Given the description of an element on the screen output the (x, y) to click on. 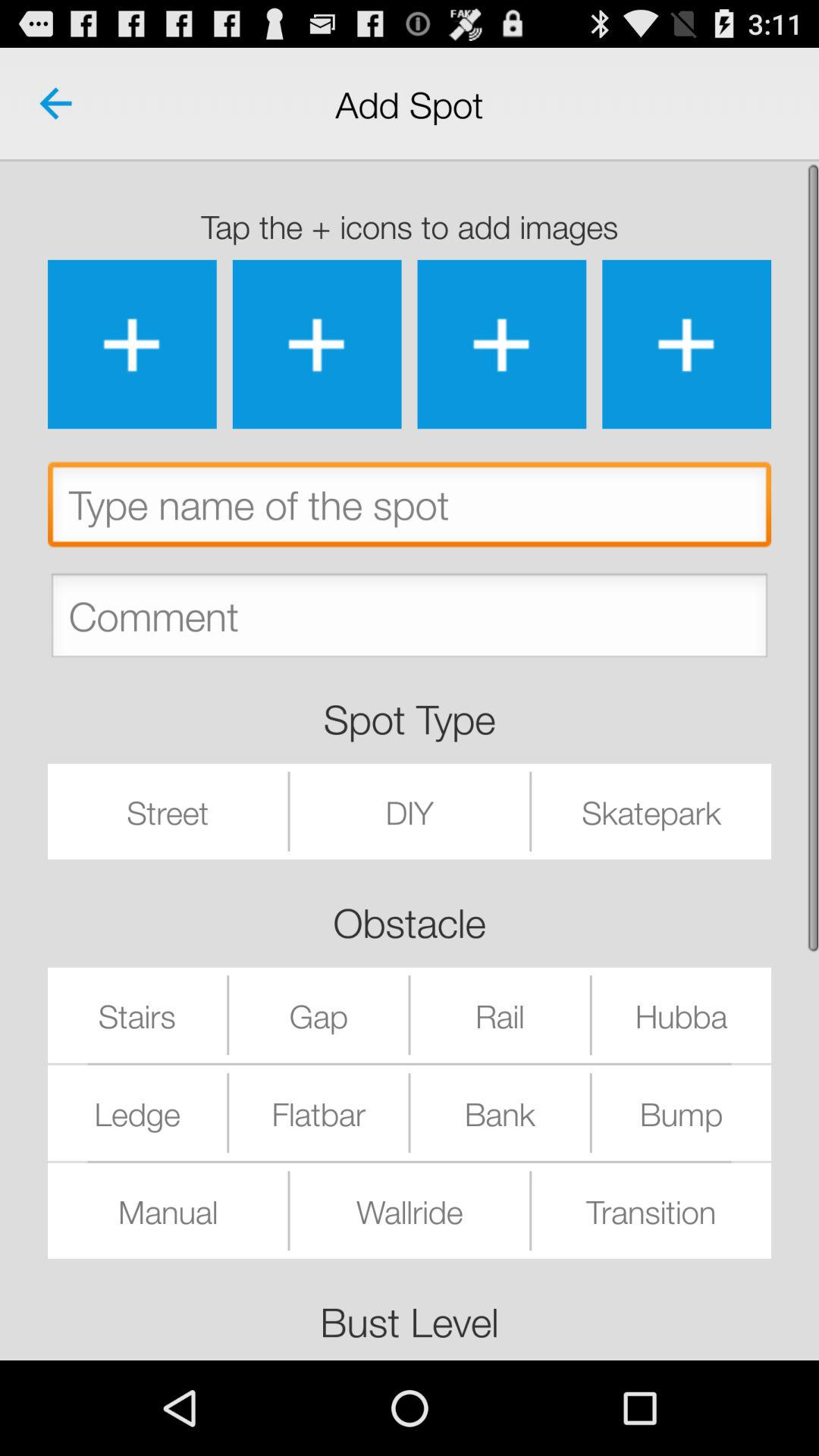
add images (316, 343)
